Given the description of an element on the screen output the (x, y) to click on. 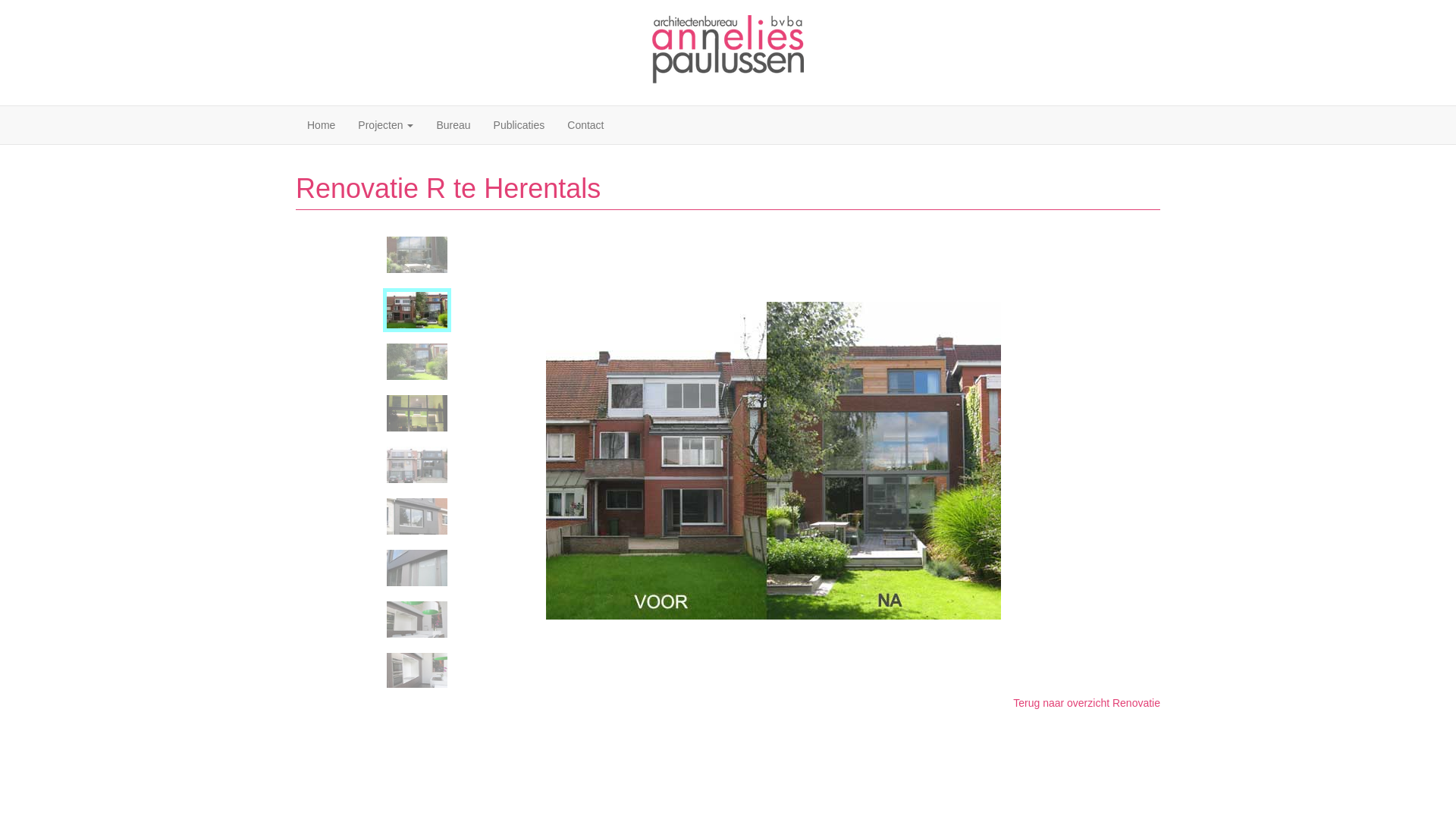
Contact Element type: text (585, 125)
Bureau Element type: text (452, 125)
Terug naar overzicht Renovatie Element type: text (1086, 702)
Home Element type: text (320, 125)
Publicaties Element type: text (519, 125)
Projecten Element type: text (385, 125)
www.anneliespaulussen.be Element type: hover (727, 50)
